Given the description of an element on the screen output the (x, y) to click on. 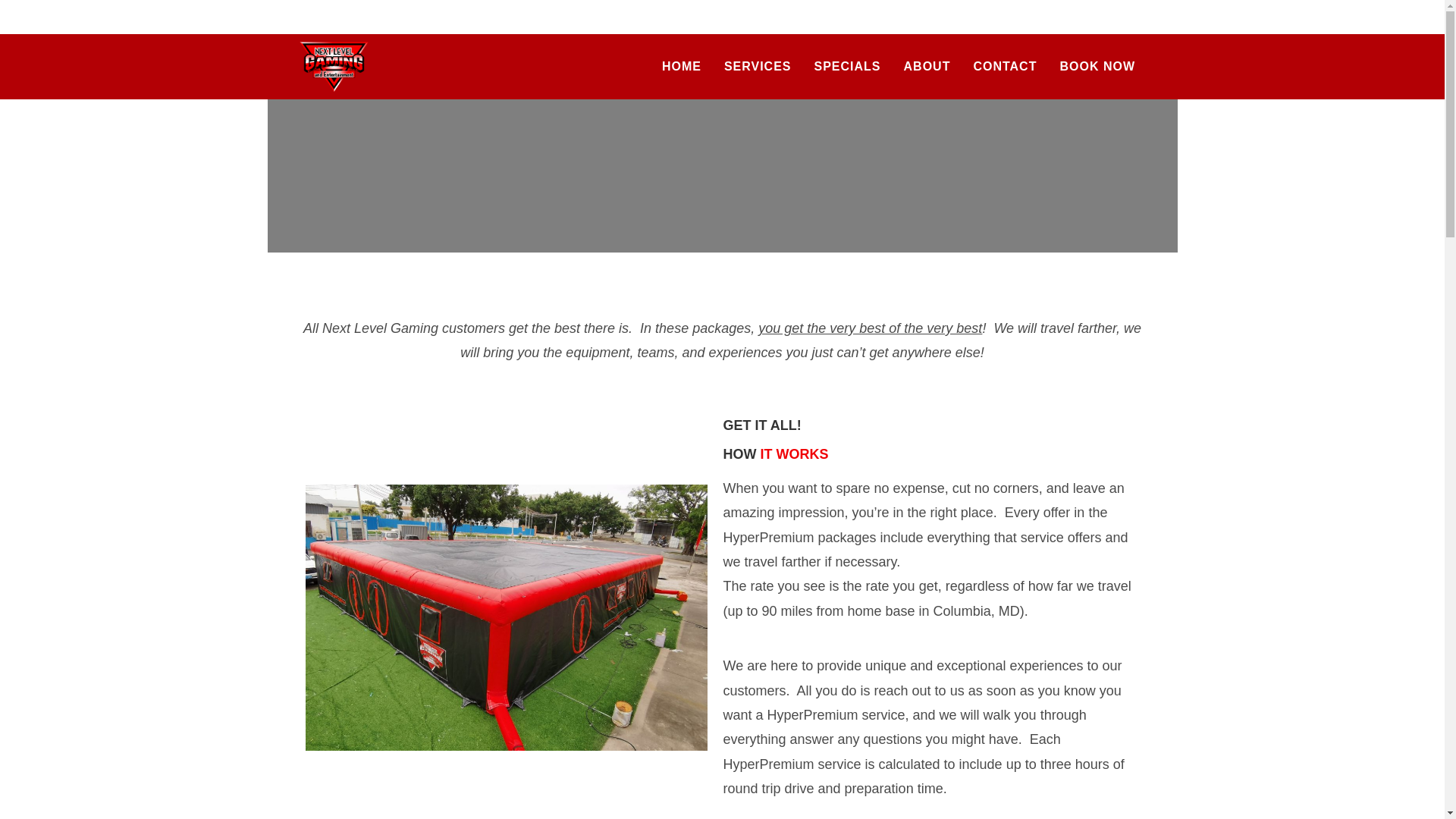
CONTACT (1004, 66)
SPECIALS (846, 66)
ABOUT (927, 66)
SERVICES (758, 66)
HOME (681, 66)
BOOK NOW (1097, 66)
